Given the description of an element on the screen output the (x, y) to click on. 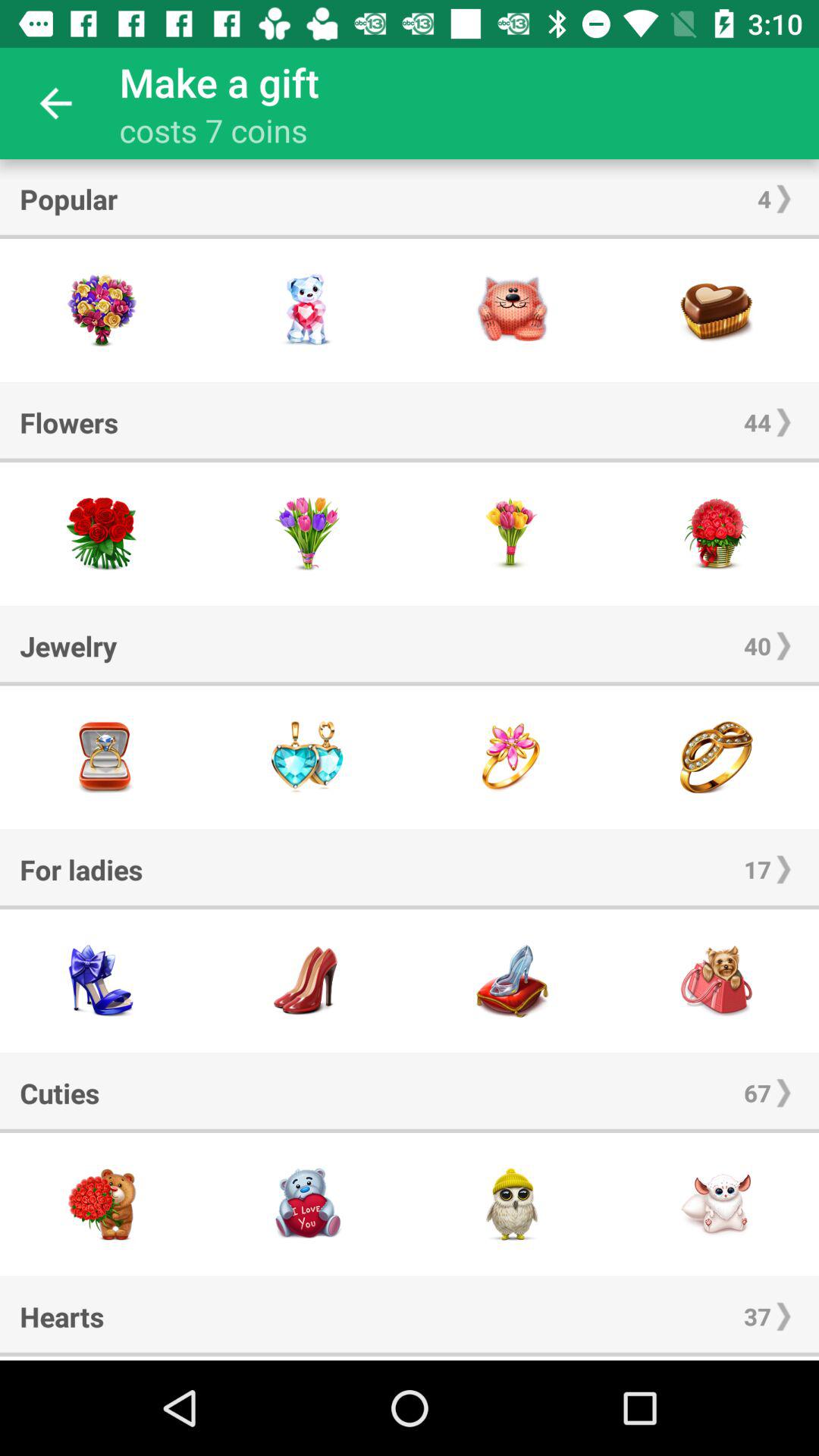
slide to the left (306, 1358)
